Given the description of an element on the screen output the (x, y) to click on. 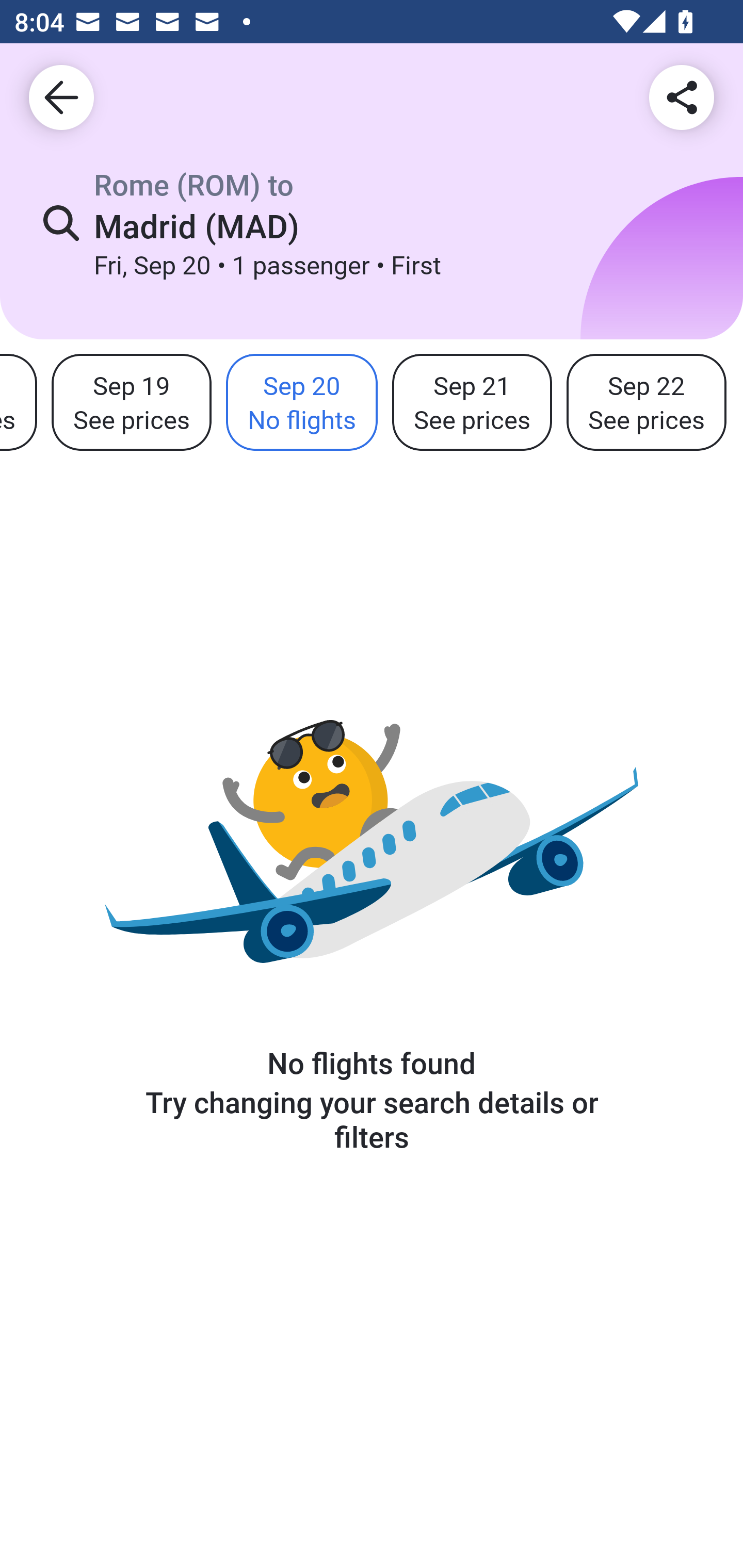
Sep 19 See prices (131, 402)
Sep 20 No flights (301, 402)
Sep 21 See prices (472, 402)
Sep 22 See prices (646, 402)
